Given the description of an element on the screen output the (x, y) to click on. 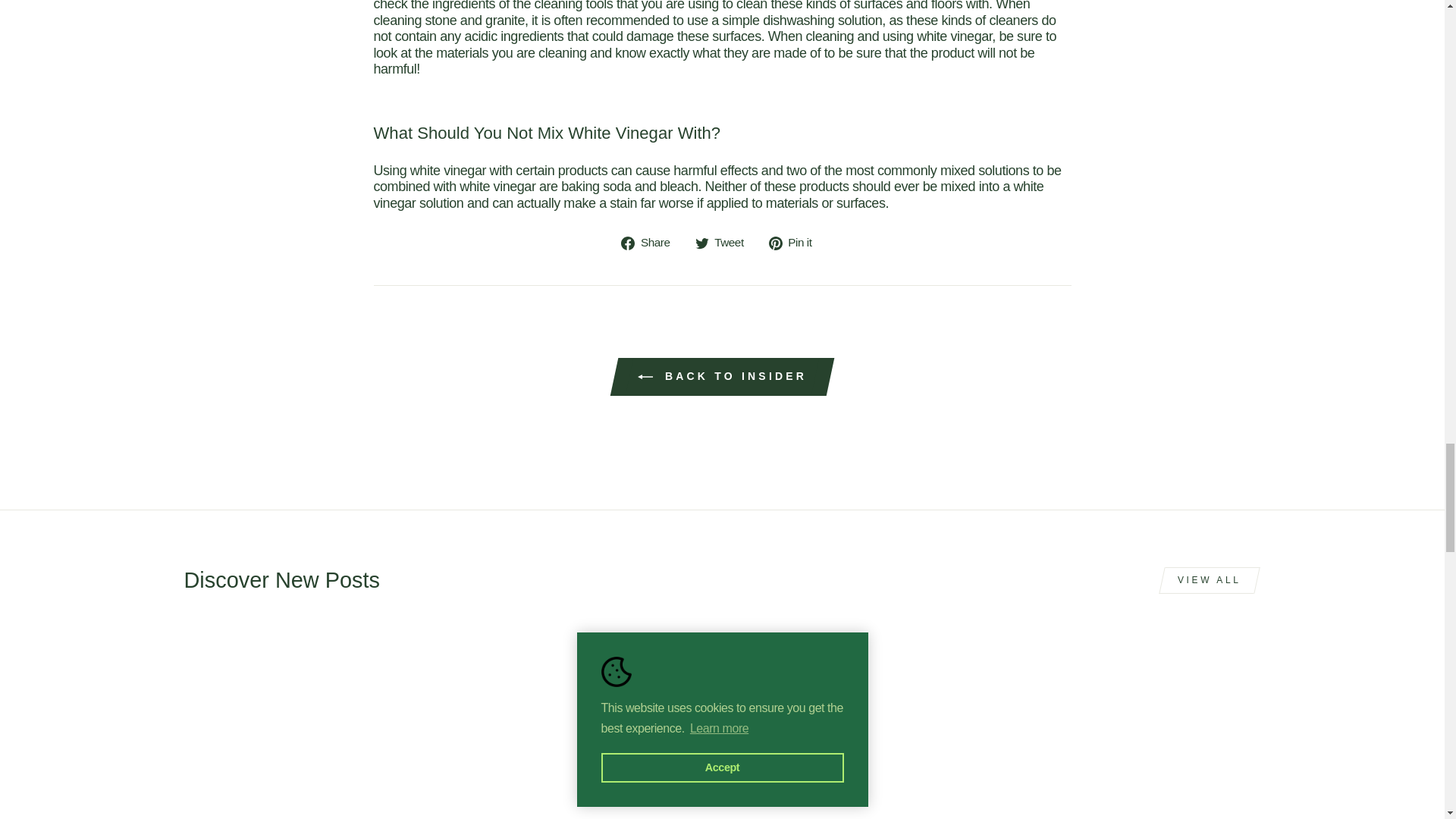
Pin on Pinterest (796, 242)
twitter (702, 243)
Tweet on Twitter (725, 242)
ICON-LEFT-ARROW (644, 376)
Share on Facebook (651, 242)
